Given the description of an element on the screen output the (x, y) to click on. 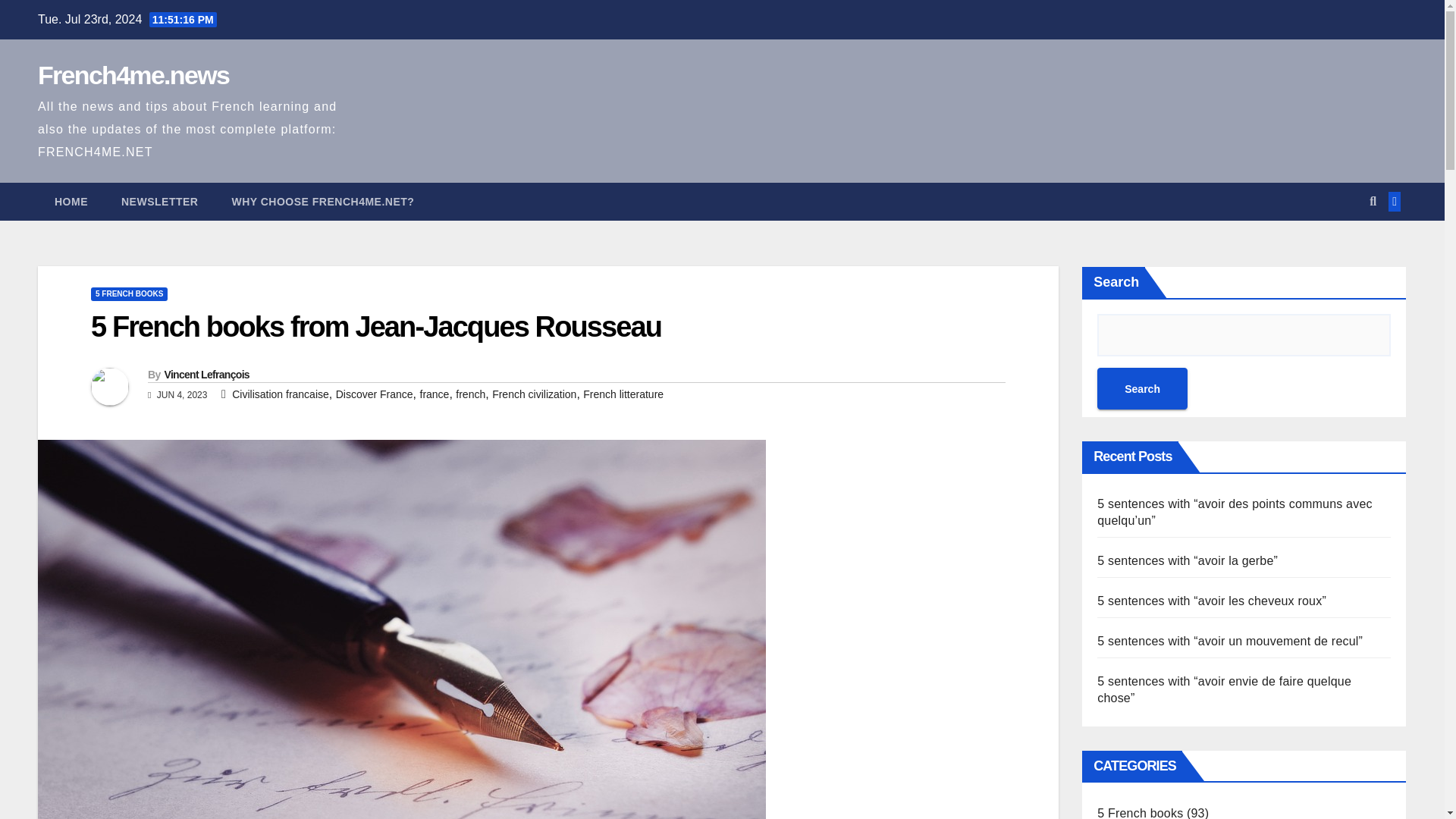
5 FRENCH BOOKS (128, 294)
Discover France (374, 394)
French civilization (534, 394)
Home (70, 201)
france (434, 394)
French litterature (623, 394)
WHY CHOOSE FRENCH4ME.NET? (322, 201)
HOME (70, 201)
French4me.news (132, 74)
french (469, 394)
Permalink to: 5 French books from Jean-Jacques Rousseau (375, 327)
Civilisation francaise (280, 394)
NEWSLETTER (159, 201)
5 French books from Jean-Jacques Rousseau (375, 327)
